Given the description of an element on the screen output the (x, y) to click on. 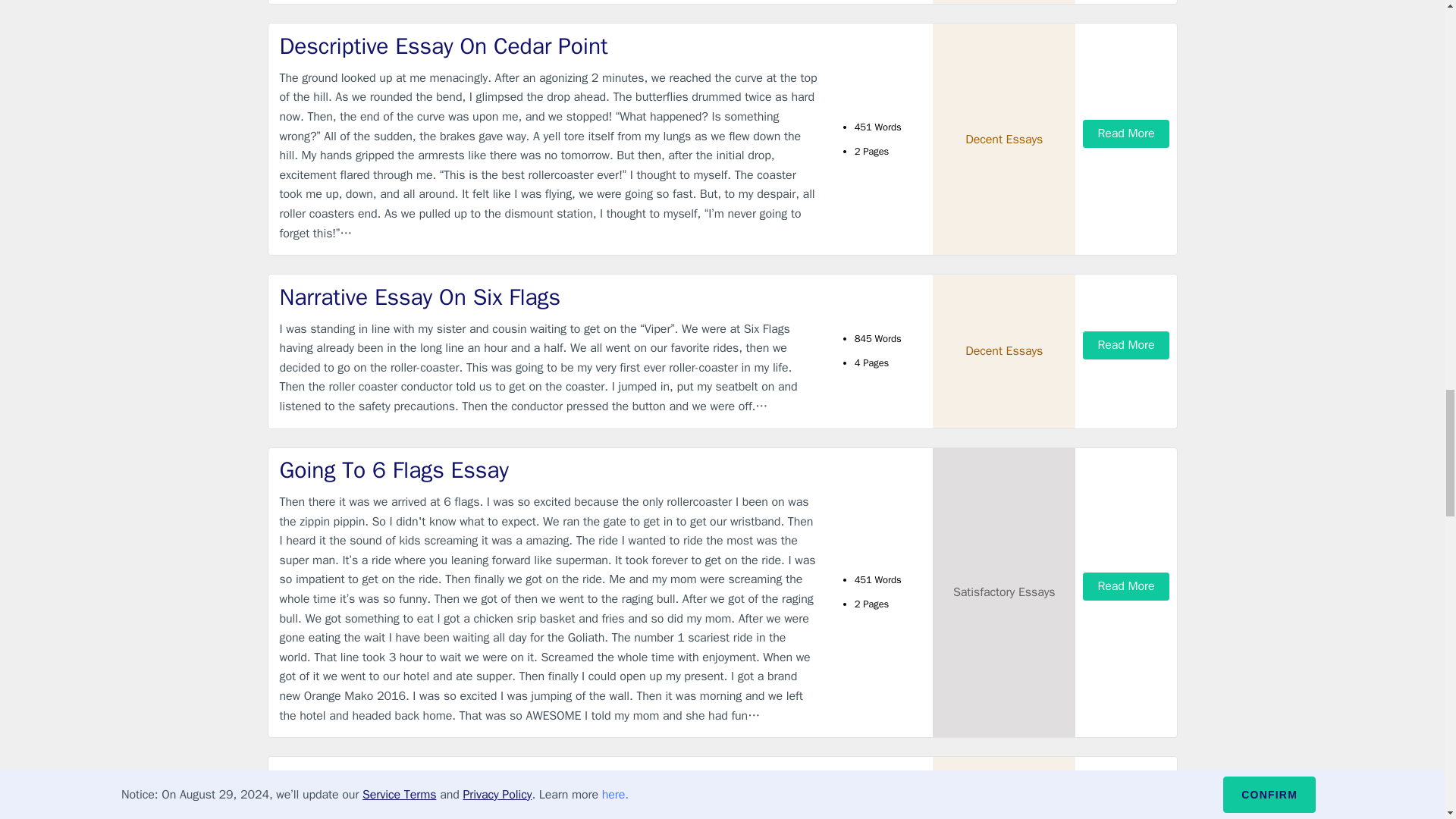
Narrative Essay On Six Flags (548, 296)
Going To 6 Flags Essay (548, 470)
Read More (1126, 345)
Read More (1126, 133)
Descriptive Essay On Cedar Point (548, 46)
